Given the description of an element on the screen output the (x, y) to click on. 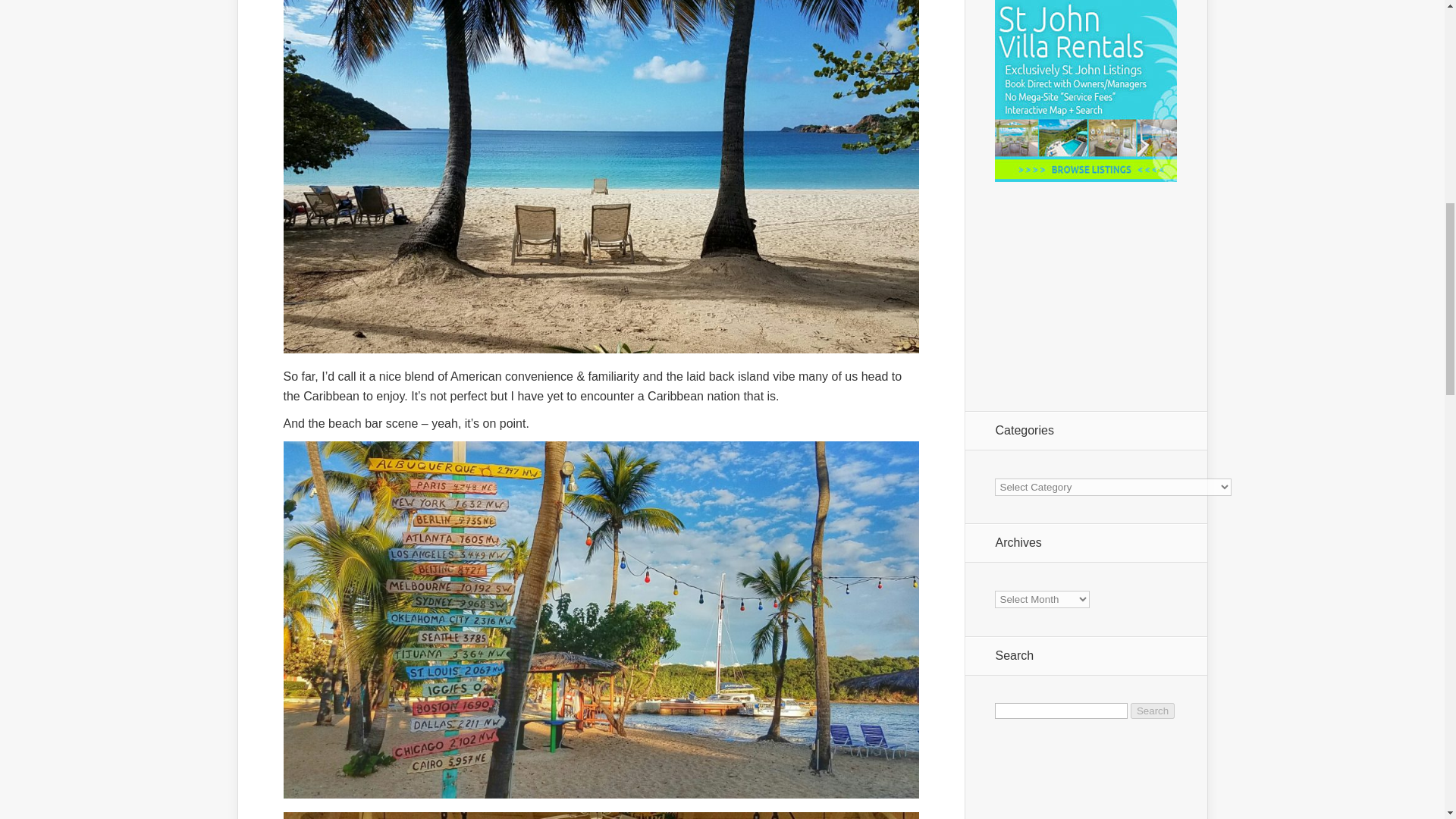
Search (1152, 710)
